Given the description of an element on the screen output the (x, y) to click on. 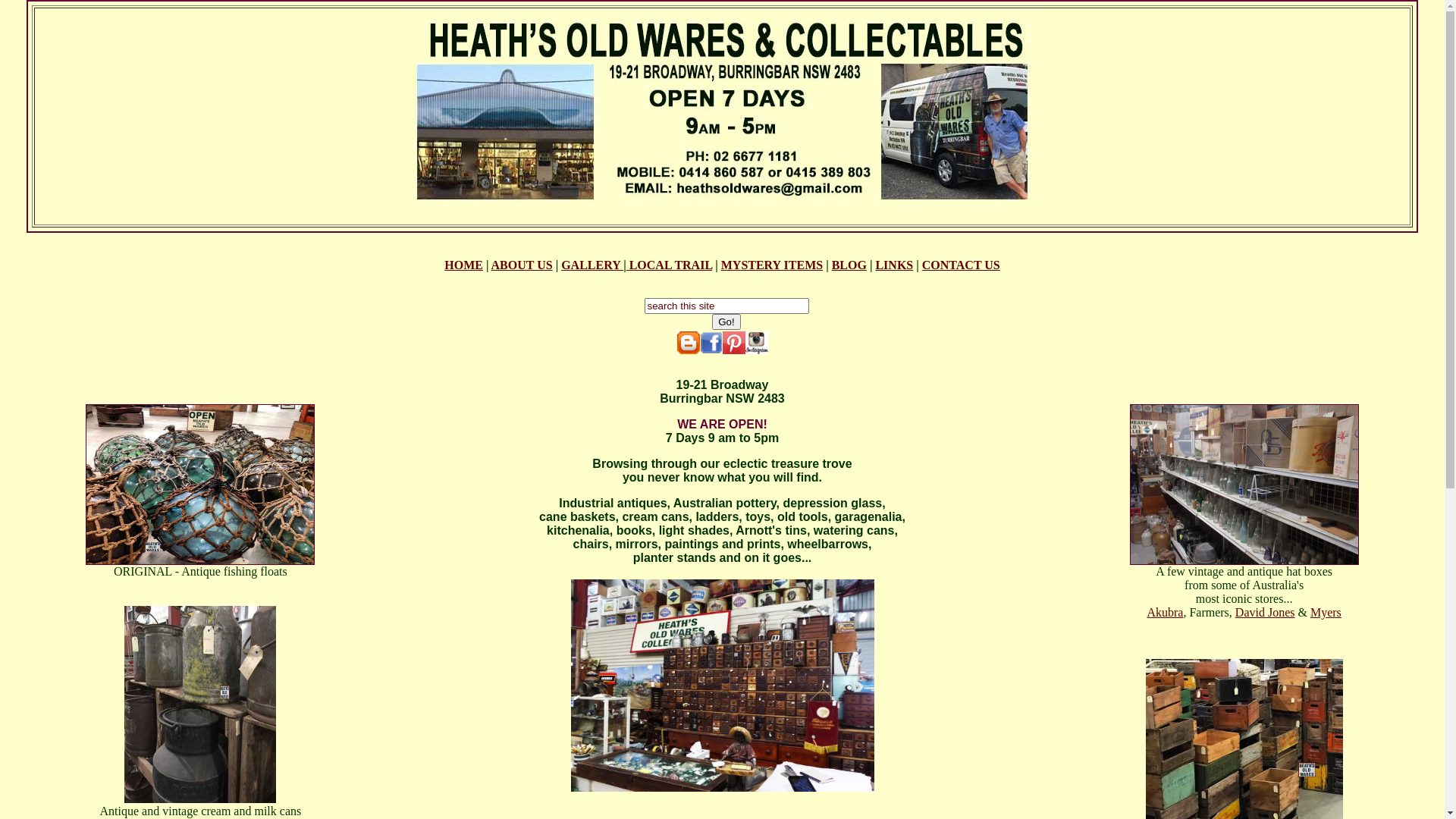
Akubra Element type: text (1164, 611)
Myers Element type: text (1325, 611)
BLOG Element type: text (848, 264)
HOME Element type: text (582, 271)
MYSTERY ITEMS Element type: text (771, 264)
LINKS Element type: text (894, 264)
CONTACT US Element type: text (961, 264)
GALLERY Element type: text (592, 264)
David Jones Element type: text (1265, 611)
LOCAL TRAIL Element type: text (669, 264)
ABOUT US Element type: text (521, 264)
Go! Element type: text (726, 321)
